Given the description of an element on the screen output the (x, y) to click on. 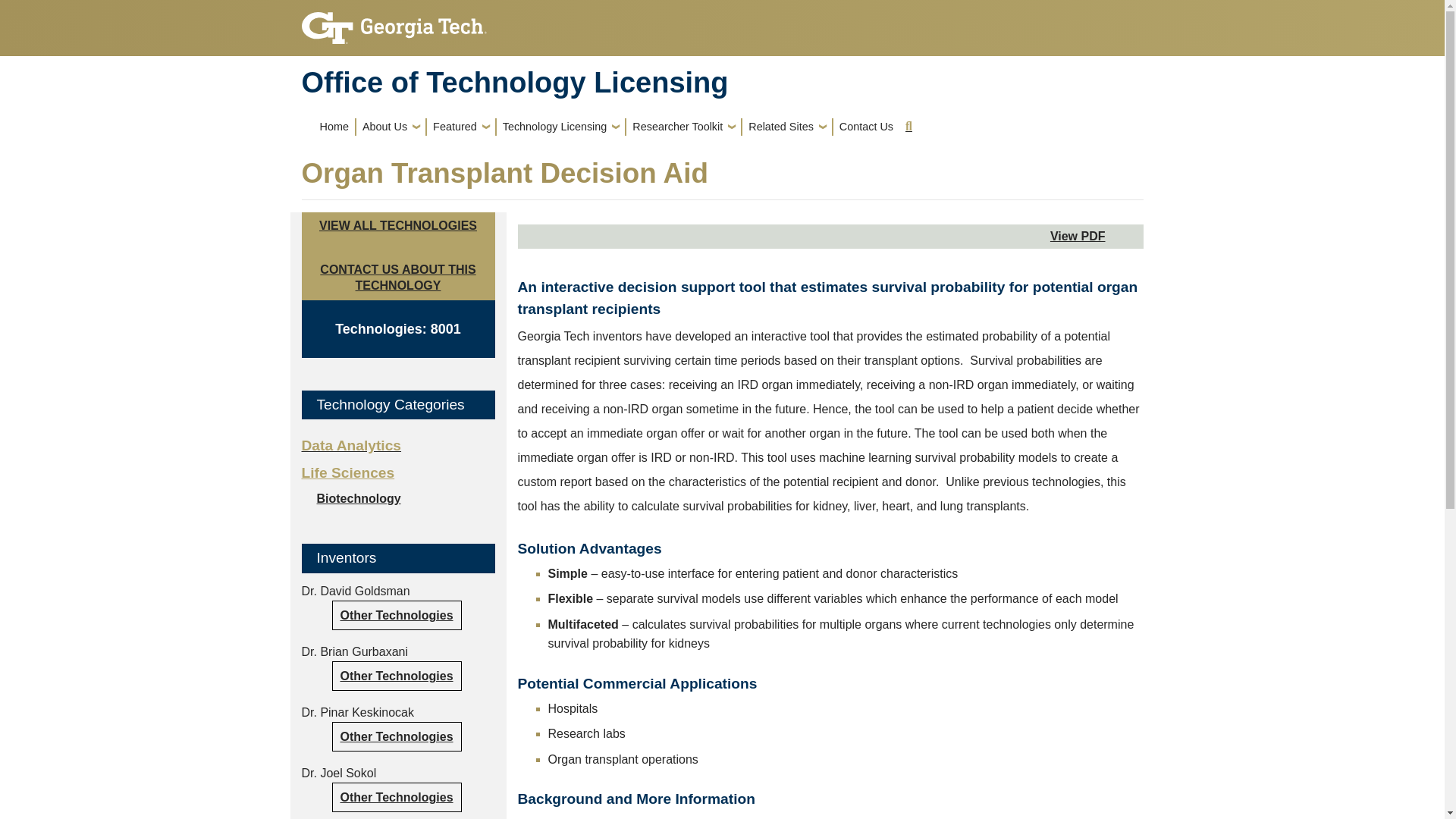
Featured (460, 126)
Georgia Institute of Technology (393, 23)
About Us (390, 126)
Researcher Toolkit (683, 126)
search (908, 126)
Office of Technology Licensing (721, 82)
Technology Licensing (561, 126)
Home (334, 126)
Office of Technology Licensing (515, 82)
Related Sites (786, 126)
